Given the description of an element on the screen output the (x, y) to click on. 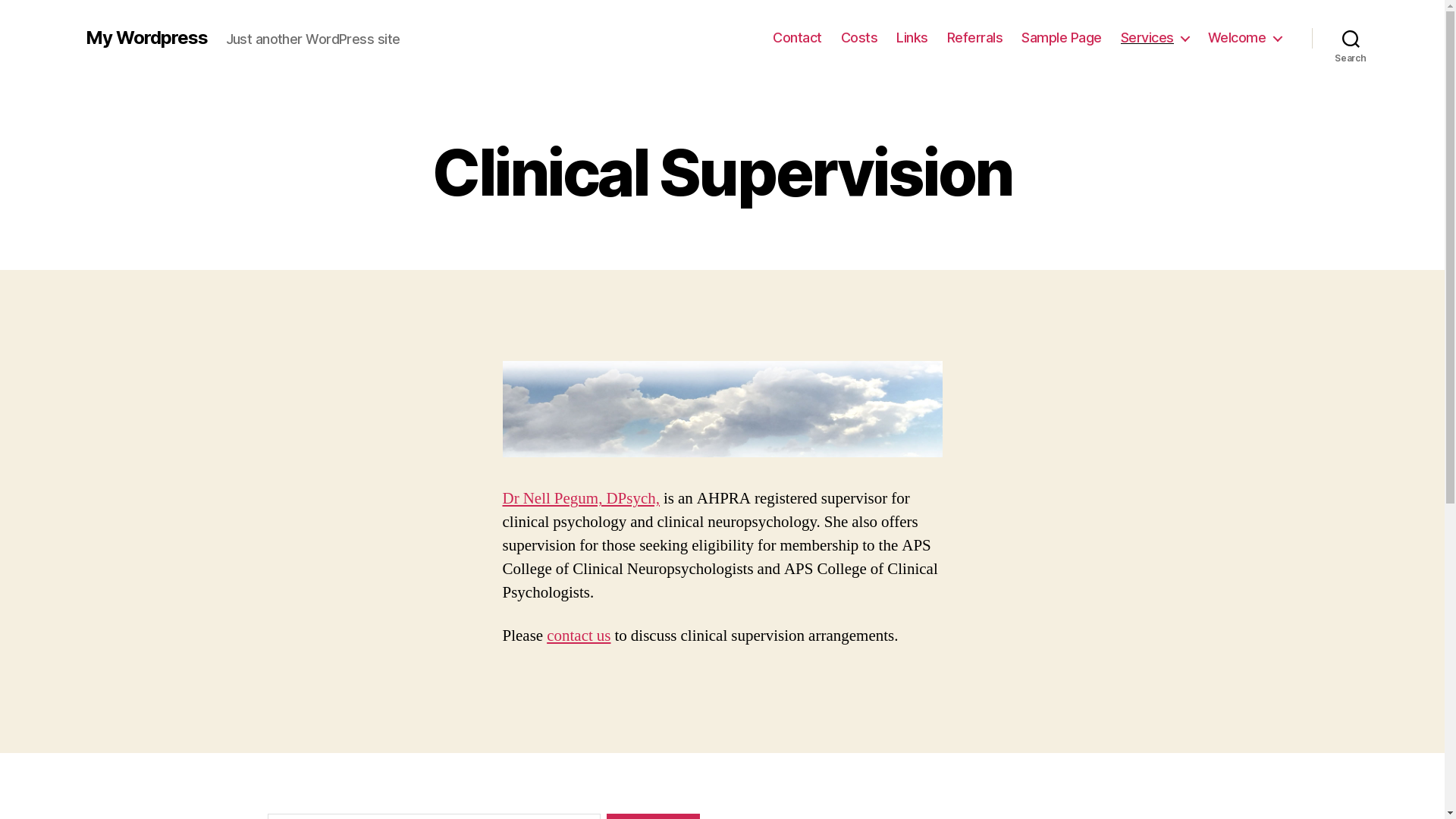
Services Element type: text (1154, 37)
Links Element type: text (912, 37)
Search Element type: text (1350, 37)
Sample Page Element type: text (1061, 37)
Contact Element type: text (797, 37)
Costs Element type: text (859, 37)
contact us Element type: text (578, 635)
Dr Nell Pegum, DPsych, Element type: text (580, 498)
My Wordpress Element type: text (145, 37)
Referrals Element type: text (975, 37)
Welcome Element type: text (1244, 37)
